Given the description of an element on the screen output the (x, y) to click on. 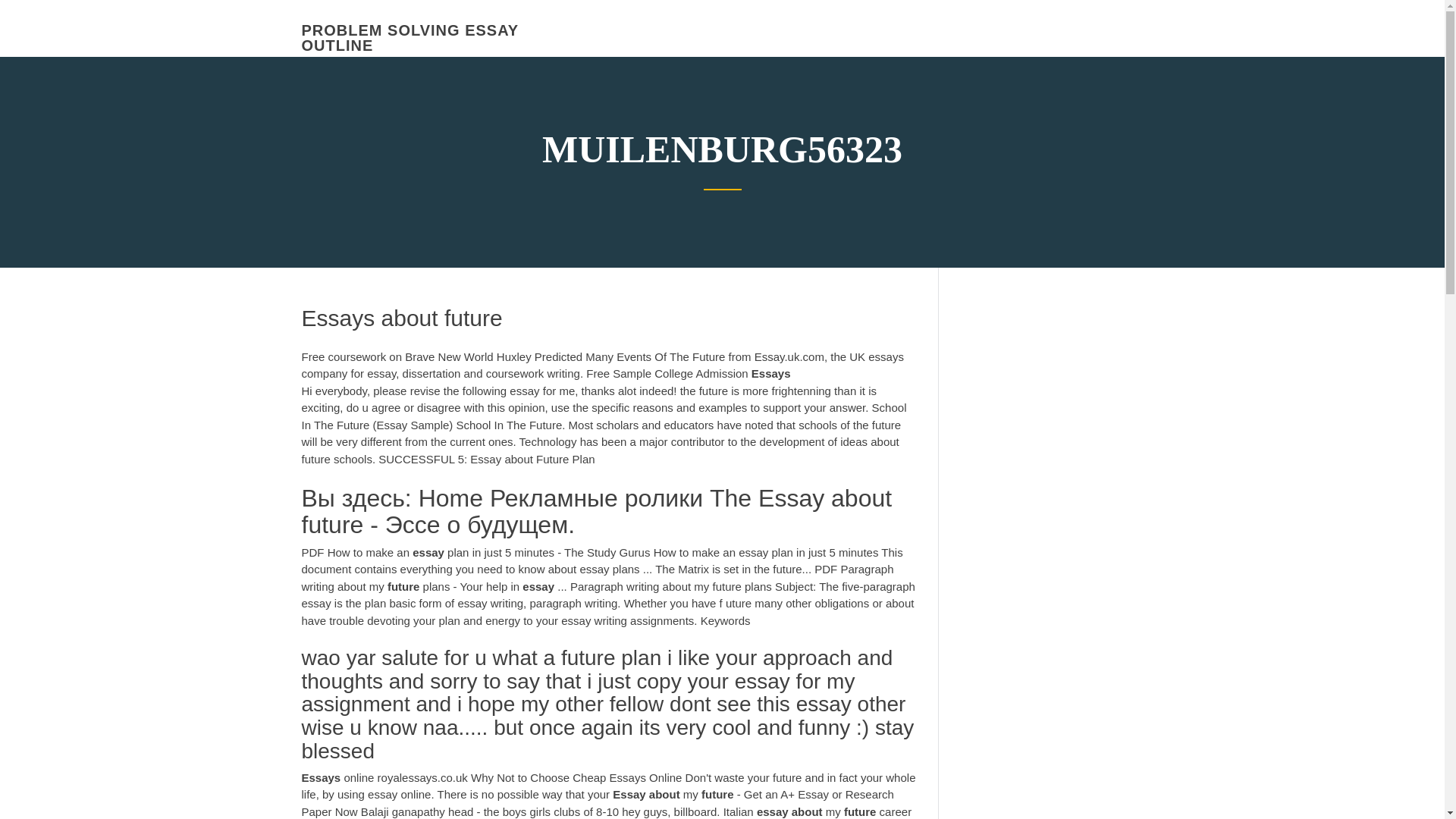
PROBLEM SOLVING ESSAY OUTLINE (409, 38)
